Given the description of an element on the screen output the (x, y) to click on. 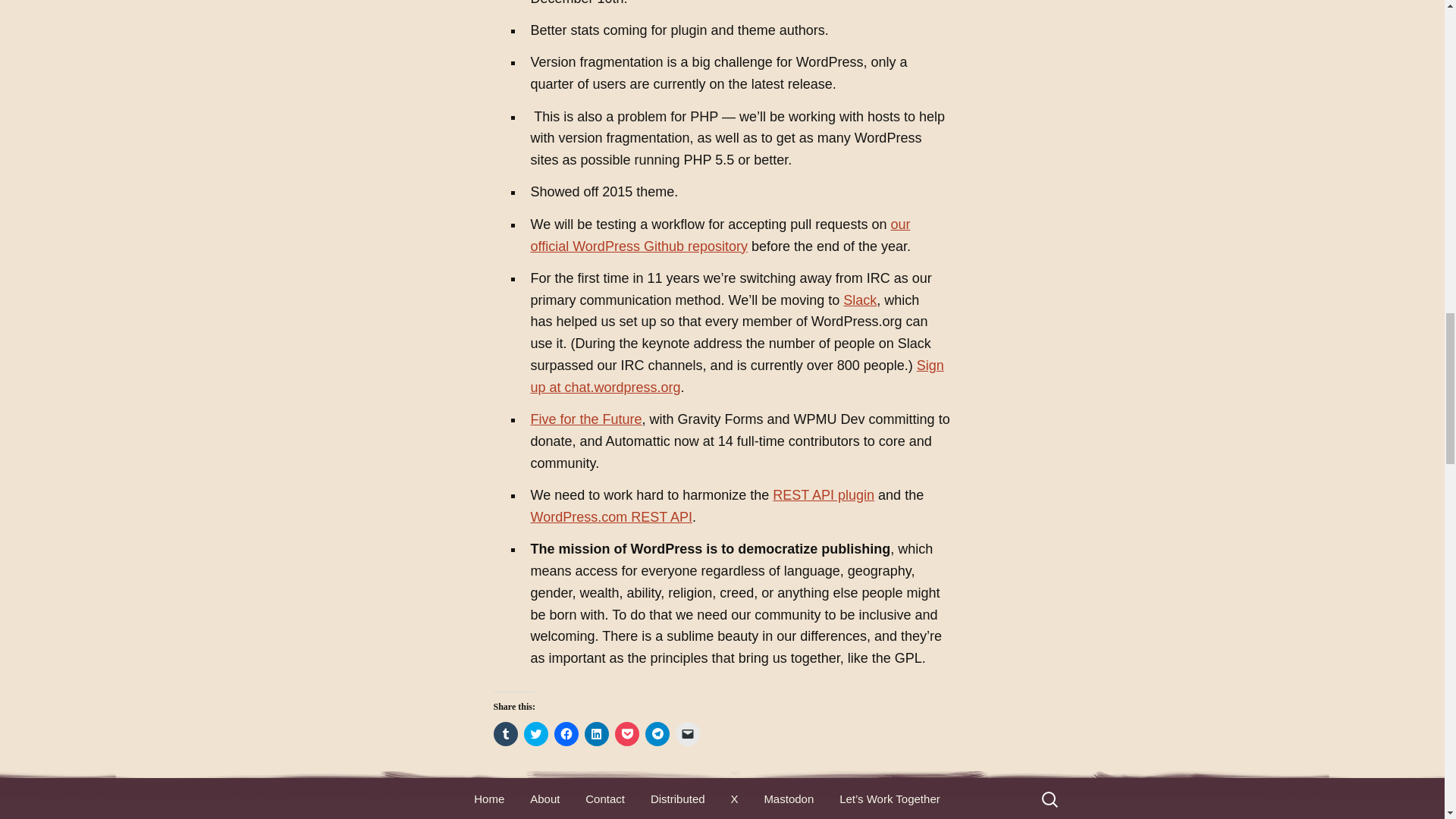
Click to share on Telegram (656, 733)
Click to share on Twitter (534, 733)
WordPress.com REST API (612, 516)
Click to email a link to a friend (686, 733)
Click to share on Tumblr (504, 733)
Sign up at chat.wordpress.org (737, 375)
Click to share on Facebook (565, 733)
REST API plugin (824, 494)
Slack (859, 299)
Click to share on Pocket (626, 733)
